Given the description of an element on the screen output the (x, y) to click on. 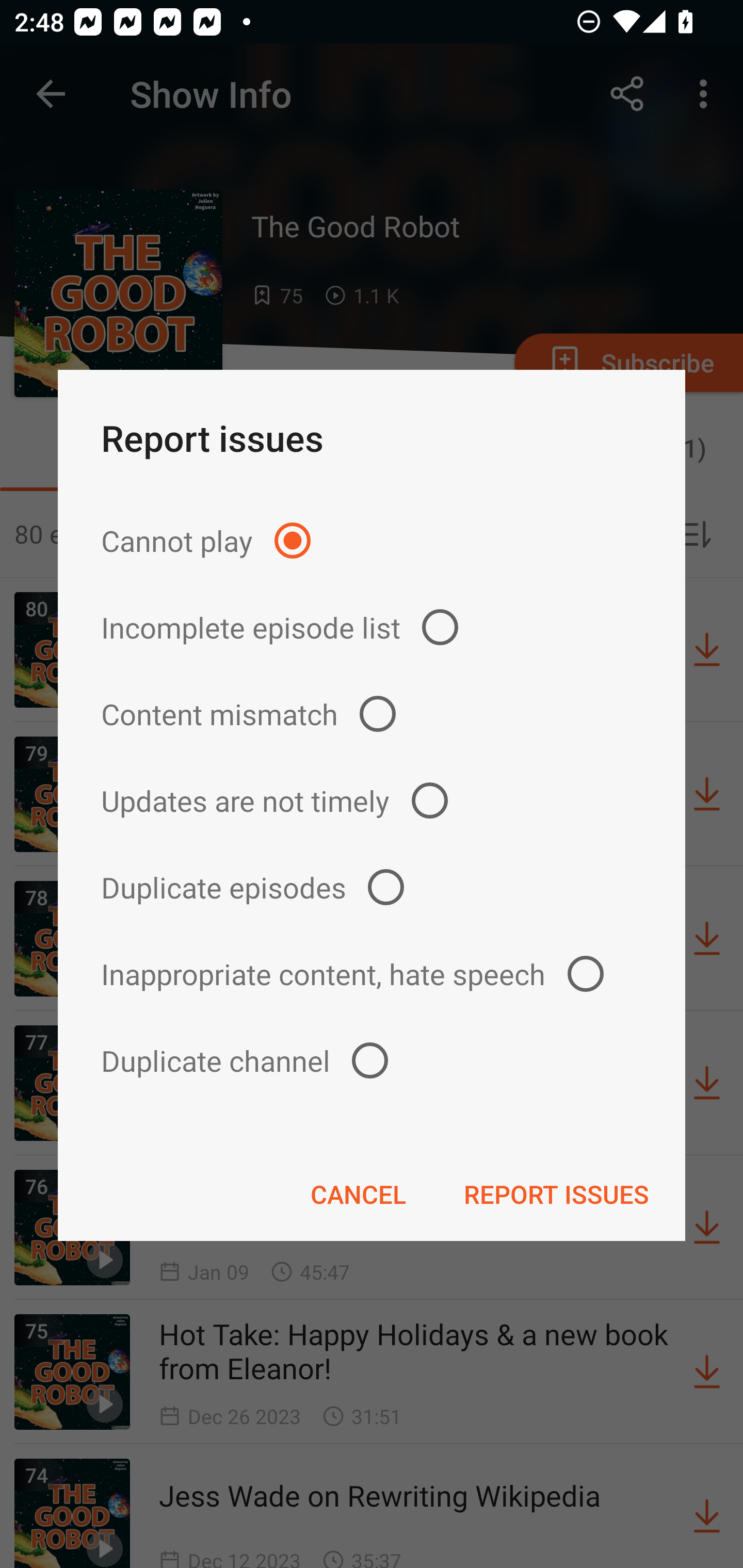
Cannot play (371, 540)
Incomplete episode list (371, 627)
Content mismatch (371, 714)
Updates are not timely (371, 800)
Duplicate episodes (371, 886)
Inappropriate content, hate speech (371, 973)
Duplicate channel (371, 1060)
CANCEL (357, 1193)
REPORT ISSUES (555, 1193)
